Given the description of an element on the screen output the (x, y) to click on. 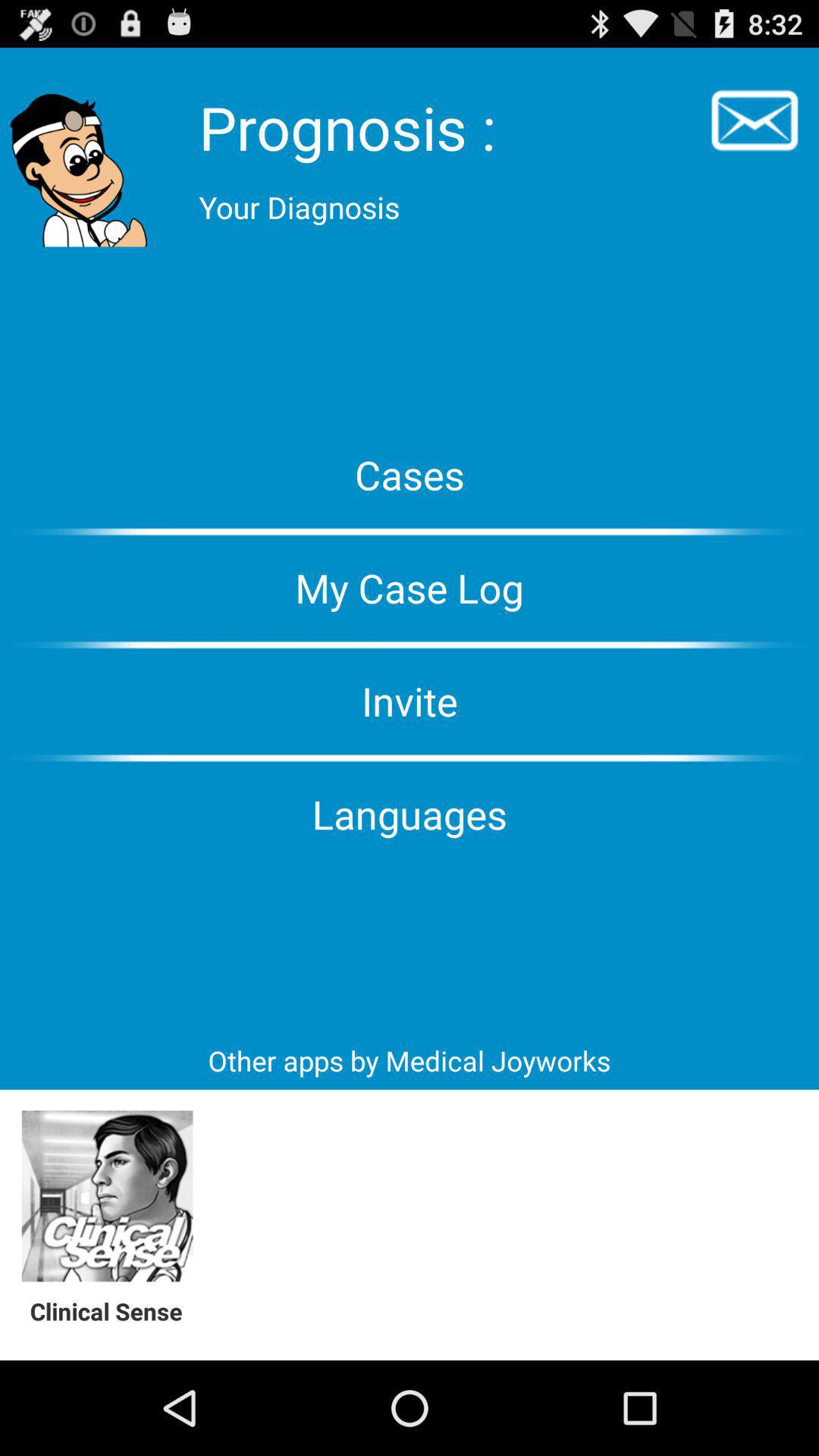
turn on my case log item (409, 587)
